Given the description of an element on the screen output the (x, y) to click on. 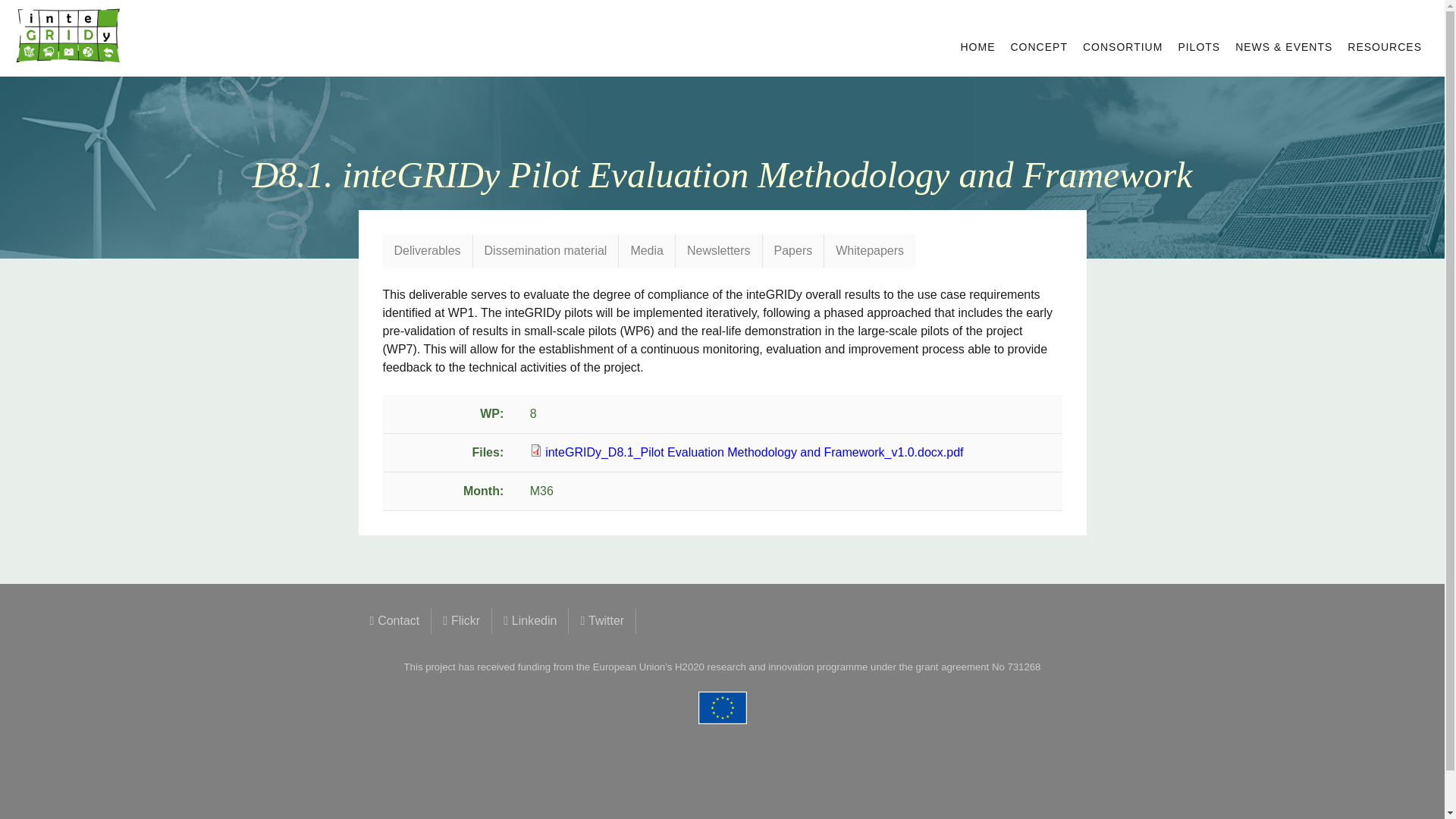
Contact (394, 620)
Dissemination material (545, 250)
Papers (793, 250)
Whitepapers (869, 250)
Media (646, 250)
RESOURCES (1384, 46)
Linkedin (530, 620)
HOME (977, 46)
CONCEPT (1038, 46)
PILOTS (1198, 46)
